Given the description of an element on the screen output the (x, y) to click on. 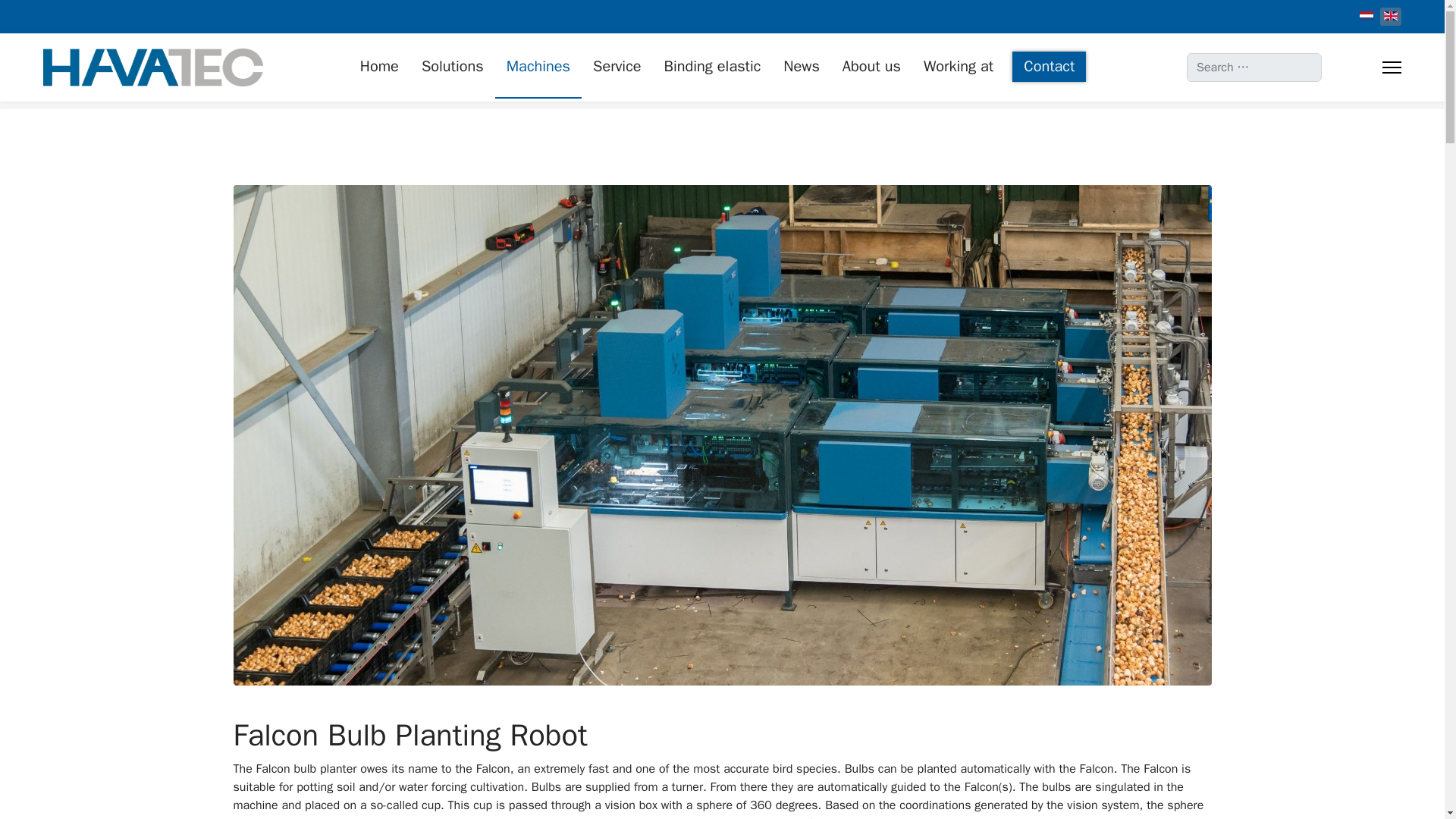
Working at (958, 66)
About us (871, 66)
Binding elastic (712, 66)
Contact (1048, 66)
Home (379, 66)
News (801, 66)
Nederlands (1366, 15)
Solutions (452, 66)
Service (616, 66)
Menu (1390, 66)
Machines (537, 67)
